Given the description of an element on the screen output the (x, y) to click on. 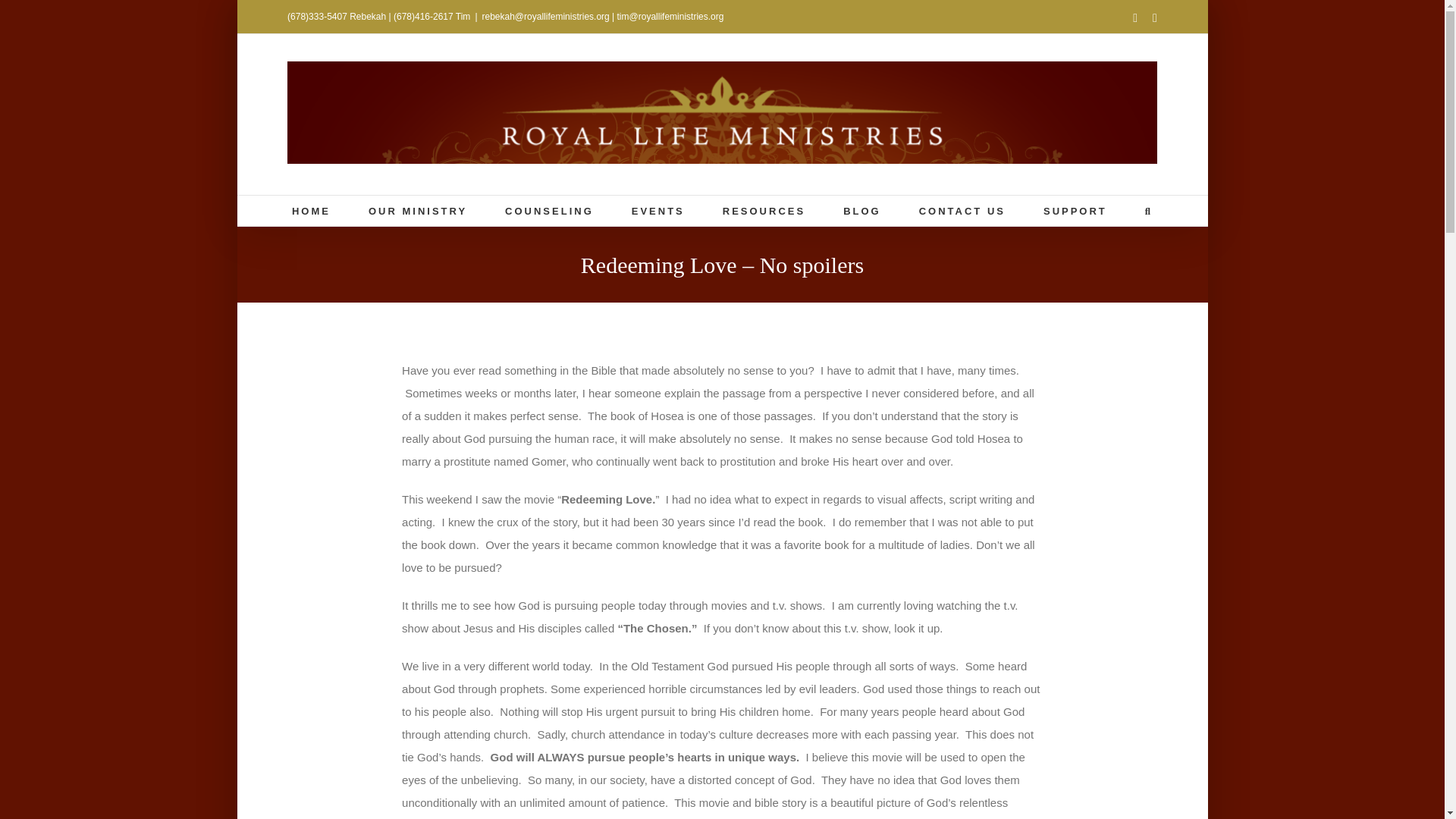
BLOG (861, 210)
COUNSELING (549, 210)
SUPPORT (1074, 210)
RESOURCES (763, 210)
HOME (311, 210)
OUR MINISTRY (417, 210)
EVENTS (657, 210)
CONTACT US (962, 210)
